Given the description of an element on the screen output the (x, y) to click on. 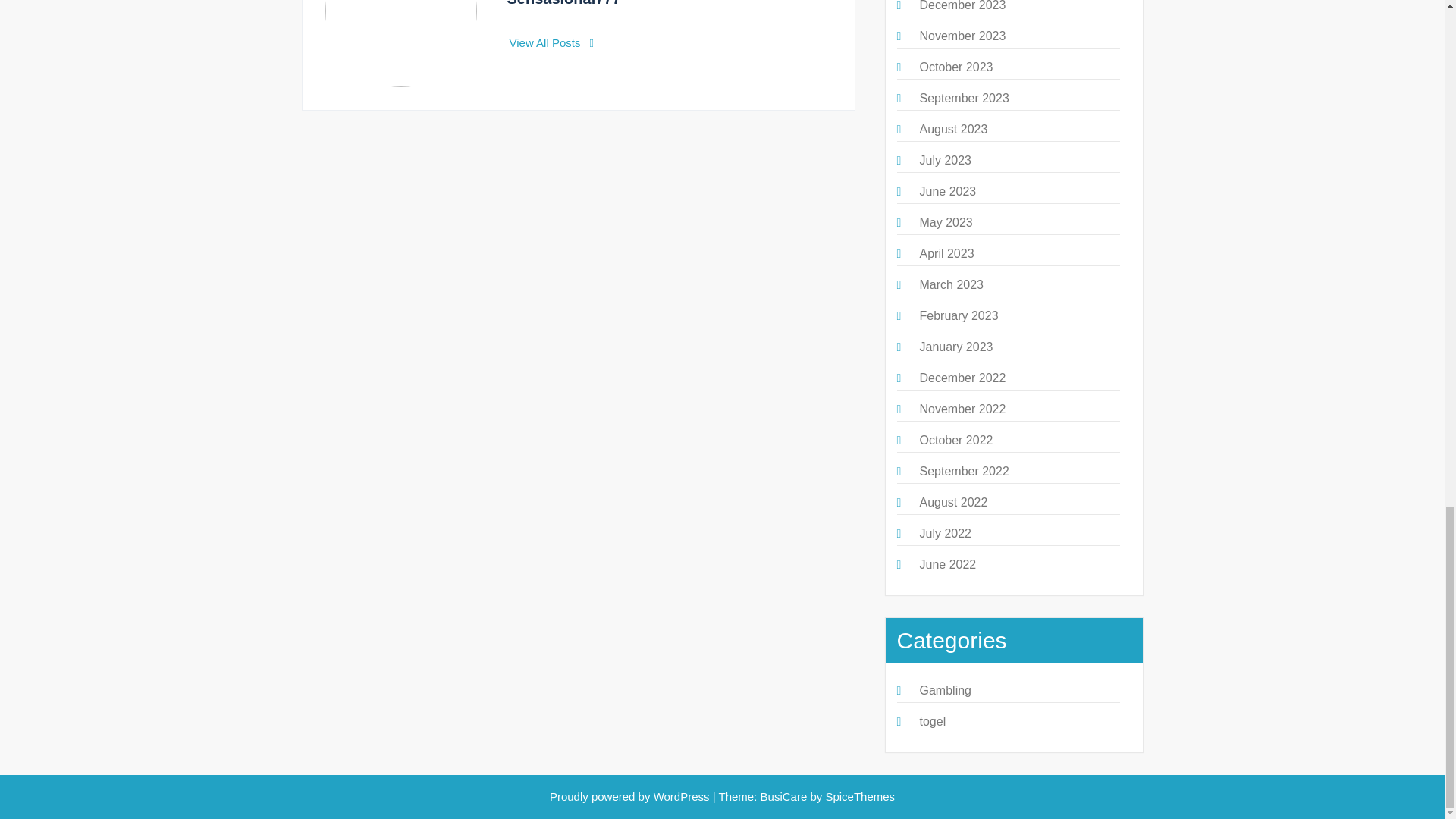
October 2023 (955, 66)
February 2023 (957, 315)
November 2023 (962, 35)
April 2023 (946, 253)
View All Posts (551, 42)
September 2023 (963, 97)
March 2023 (951, 284)
June 2023 (946, 191)
May 2023 (945, 222)
August 2023 (952, 128)
